Given the description of an element on the screen output the (x, y) to click on. 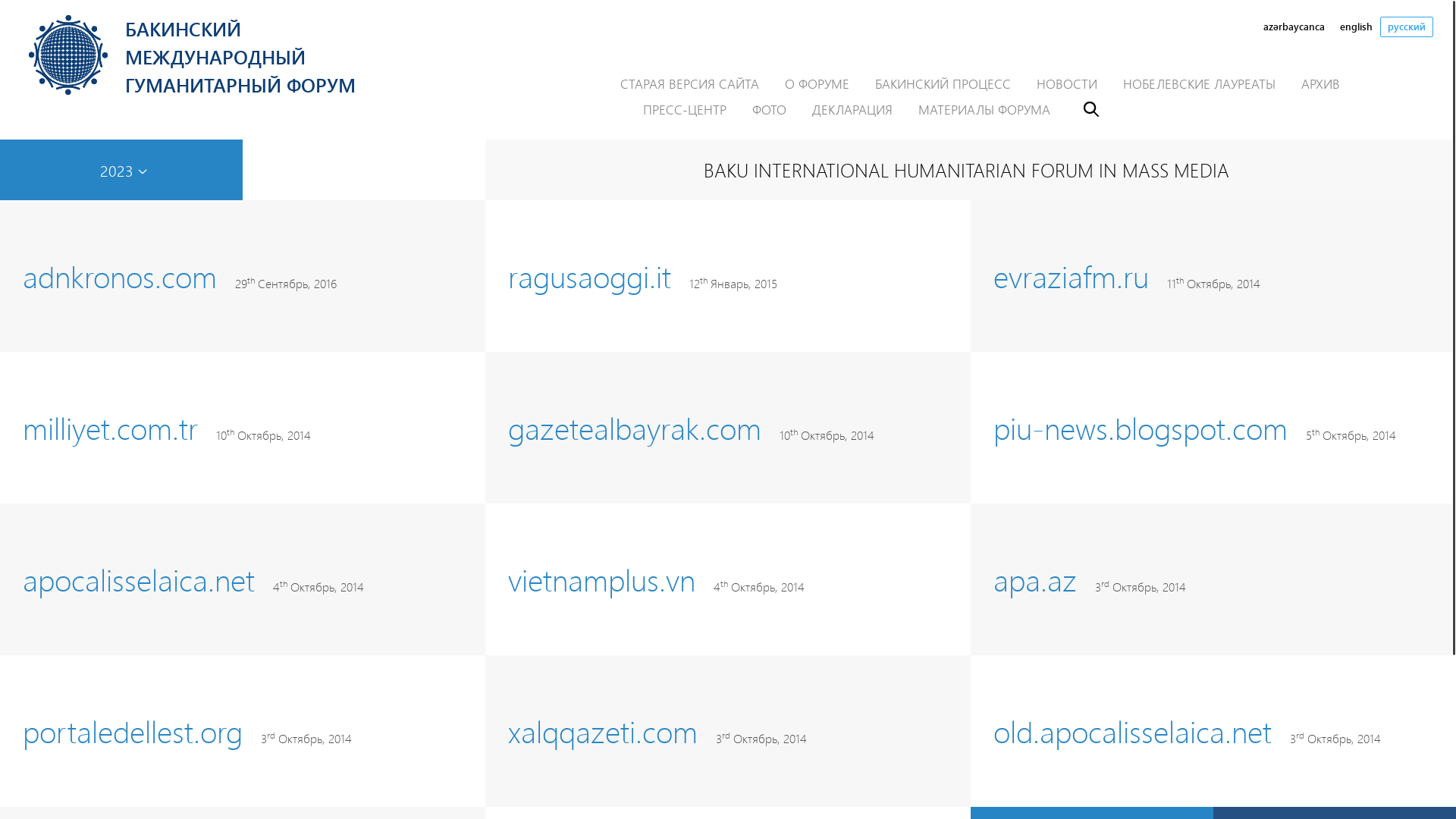
english Element type: text (1356, 26)
